Given the description of an element on the screen output the (x, y) to click on. 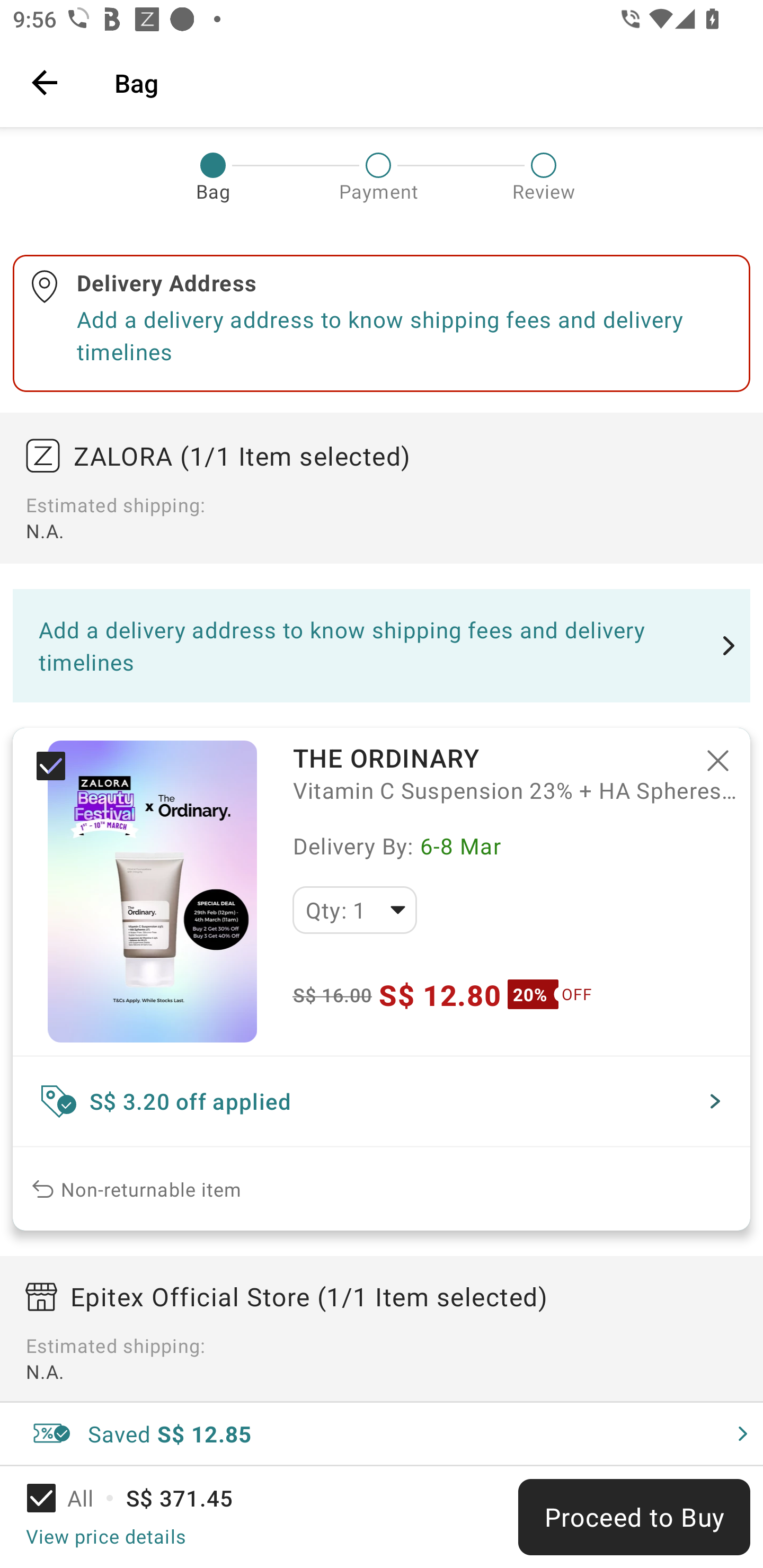
Navigate up (44, 82)
Bag (426, 82)
Qty: 1 (354, 909)
S$ 3.20 off applied (381, 1101)
Saved S$ 12.85 (381, 1433)
All (72, 1497)
Proceed to Buy (634, 1516)
View price details (105, 1535)
